Given the description of an element on the screen output the (x, y) to click on. 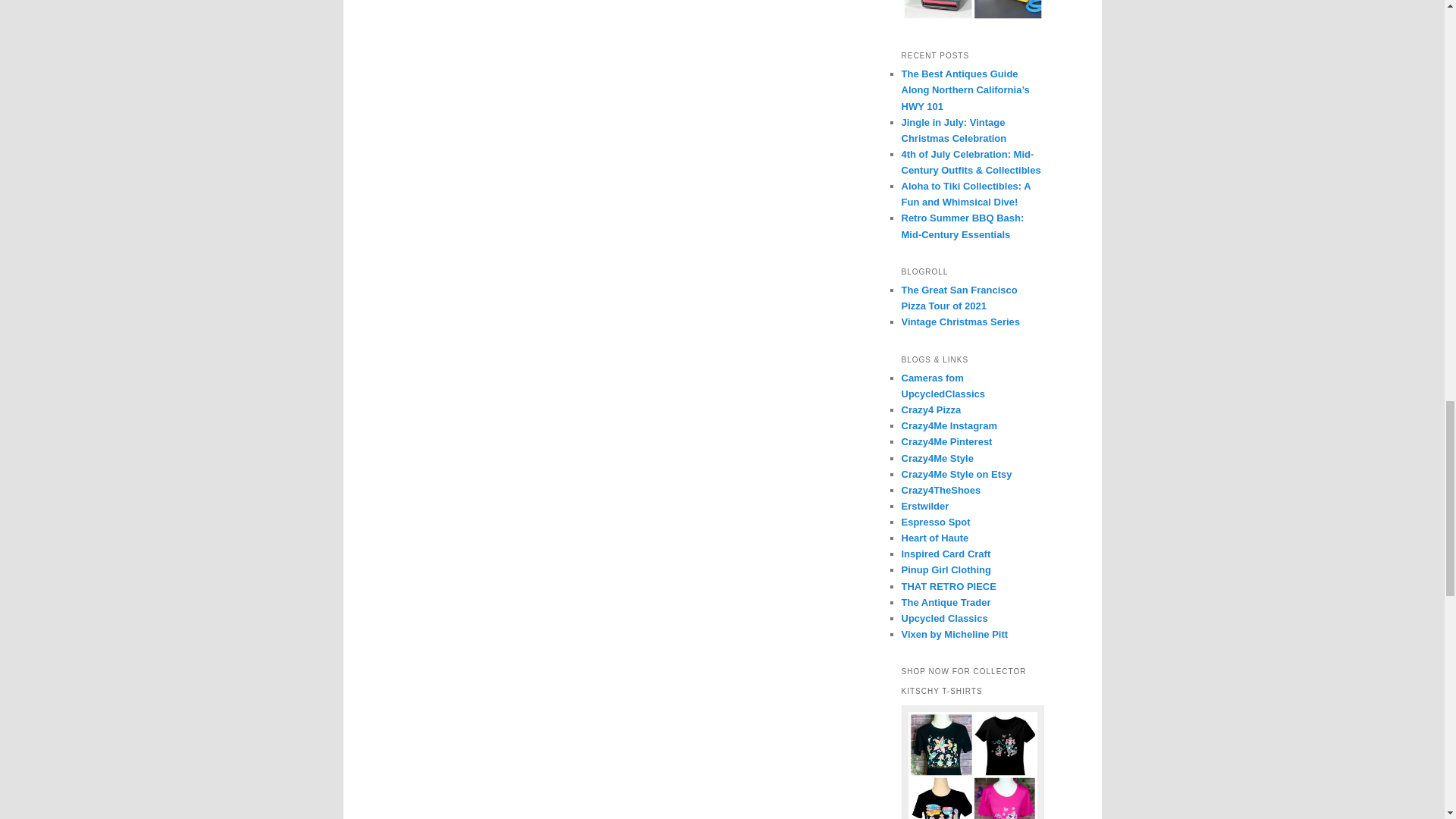
Vintage Cameras (943, 385)
Upcycled Vintage Polaroid Cameras (972, 10)
